Given the description of an element on the screen output the (x, y) to click on. 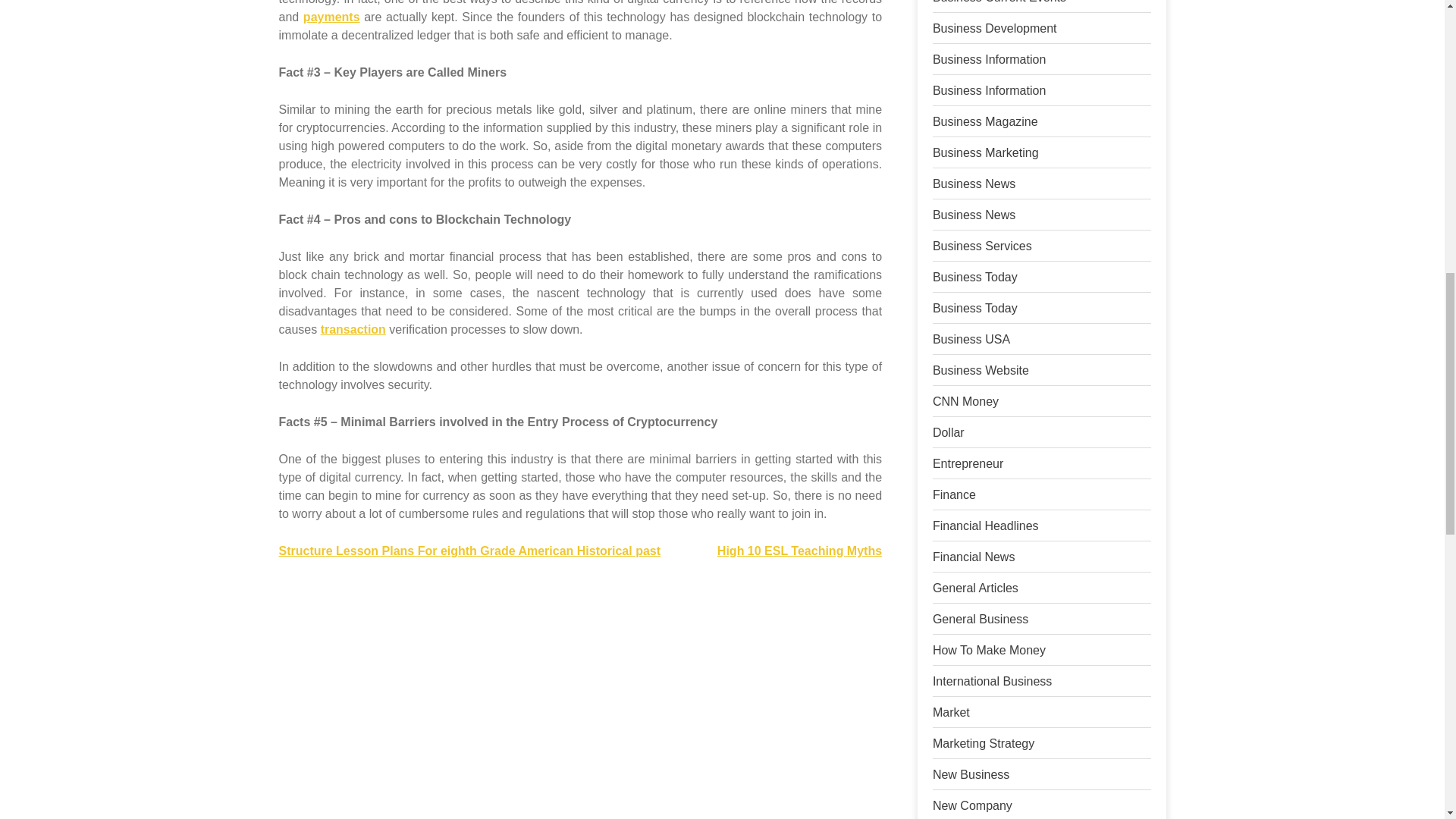
transaction (352, 328)
High 10 ESL Teaching Myths (799, 550)
payments (330, 16)
